Given the description of an element on the screen output the (x, y) to click on. 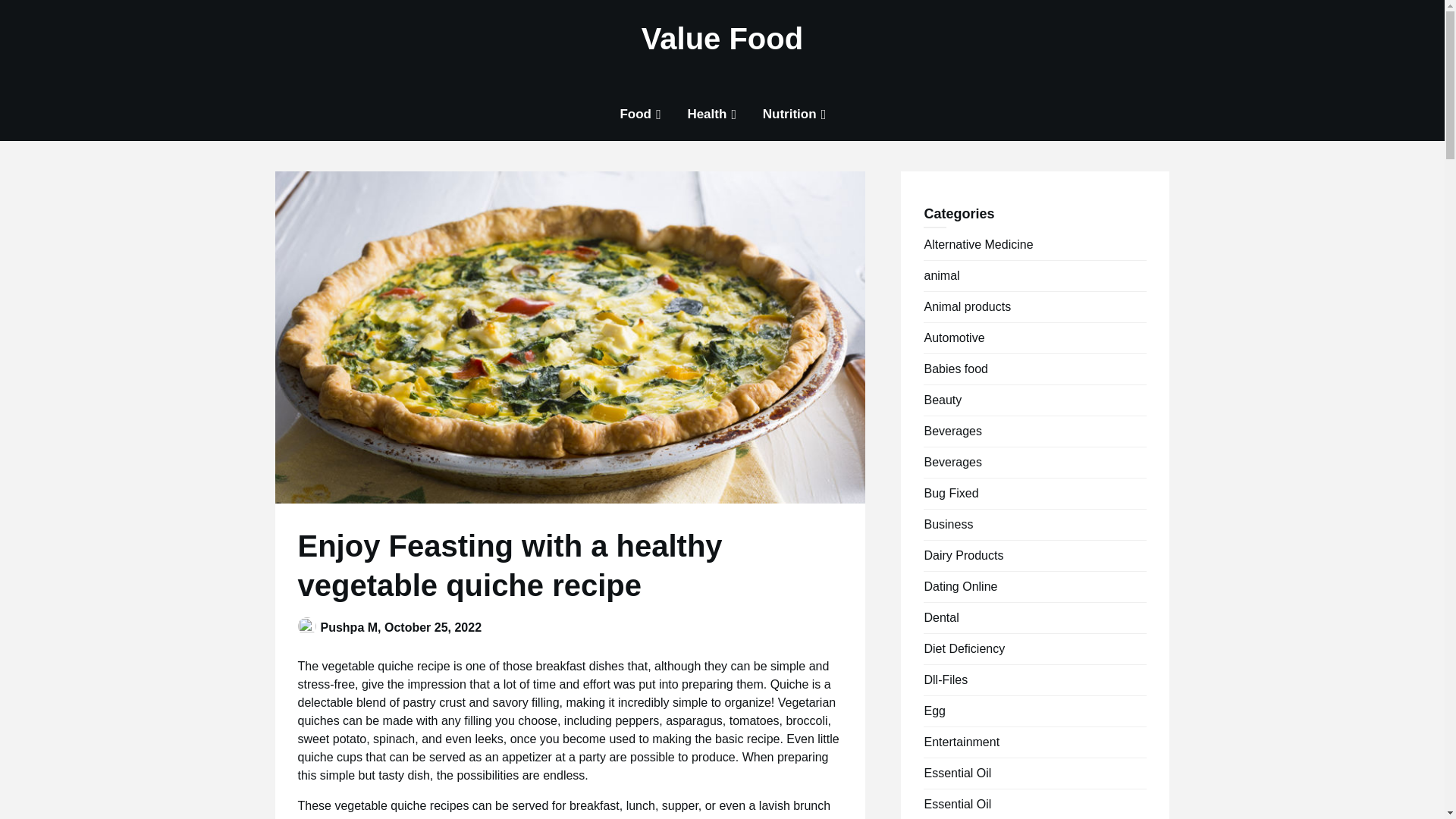
October 25, 2022 (432, 626)
Value Food (722, 38)
Nutrition (789, 114)
Health (706, 114)
Food (635, 114)
